Given the description of an element on the screen output the (x, y) to click on. 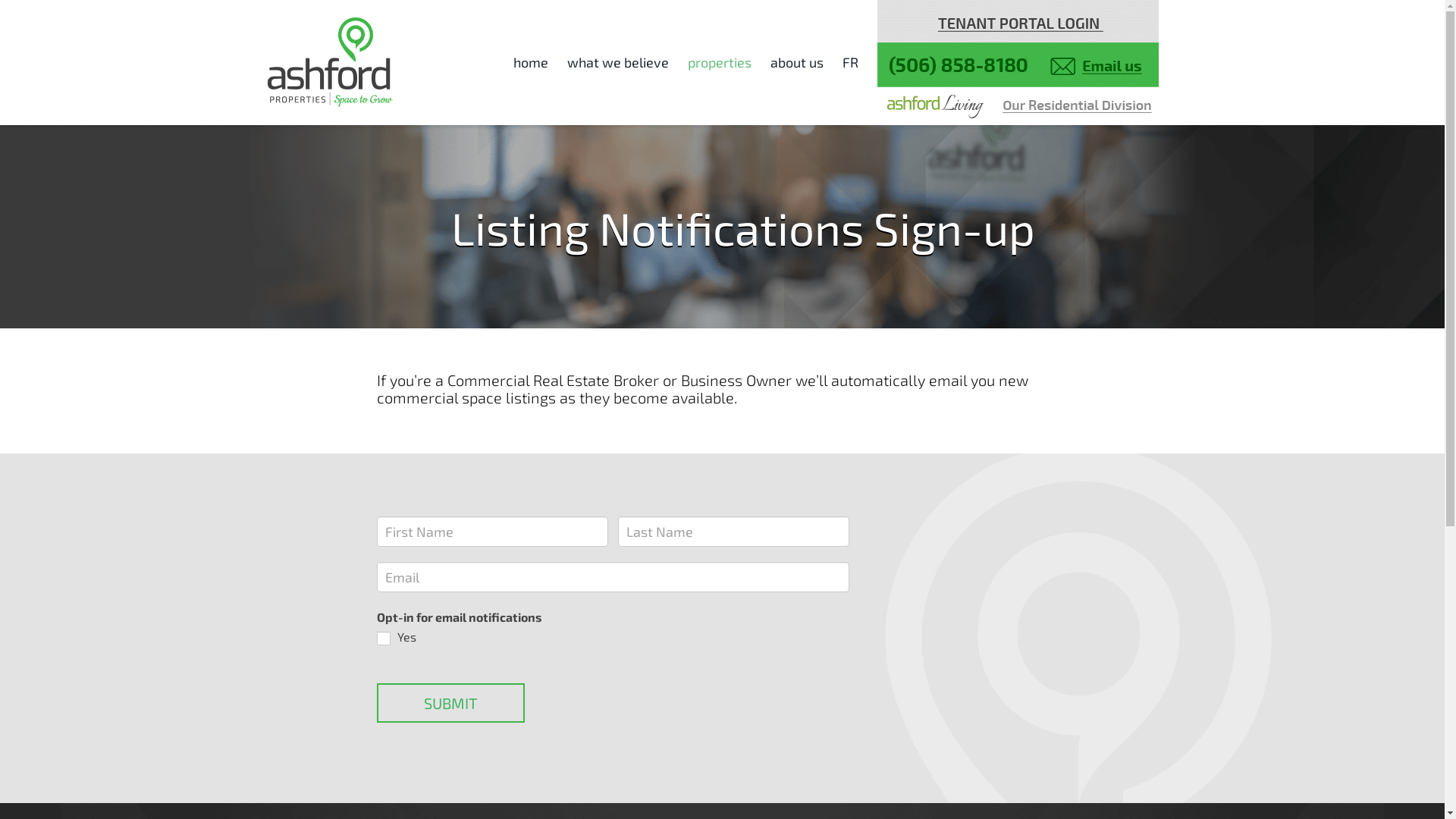
SUBMIT Element type: text (450, 702)
